Given the description of an element on the screen output the (x, y) to click on. 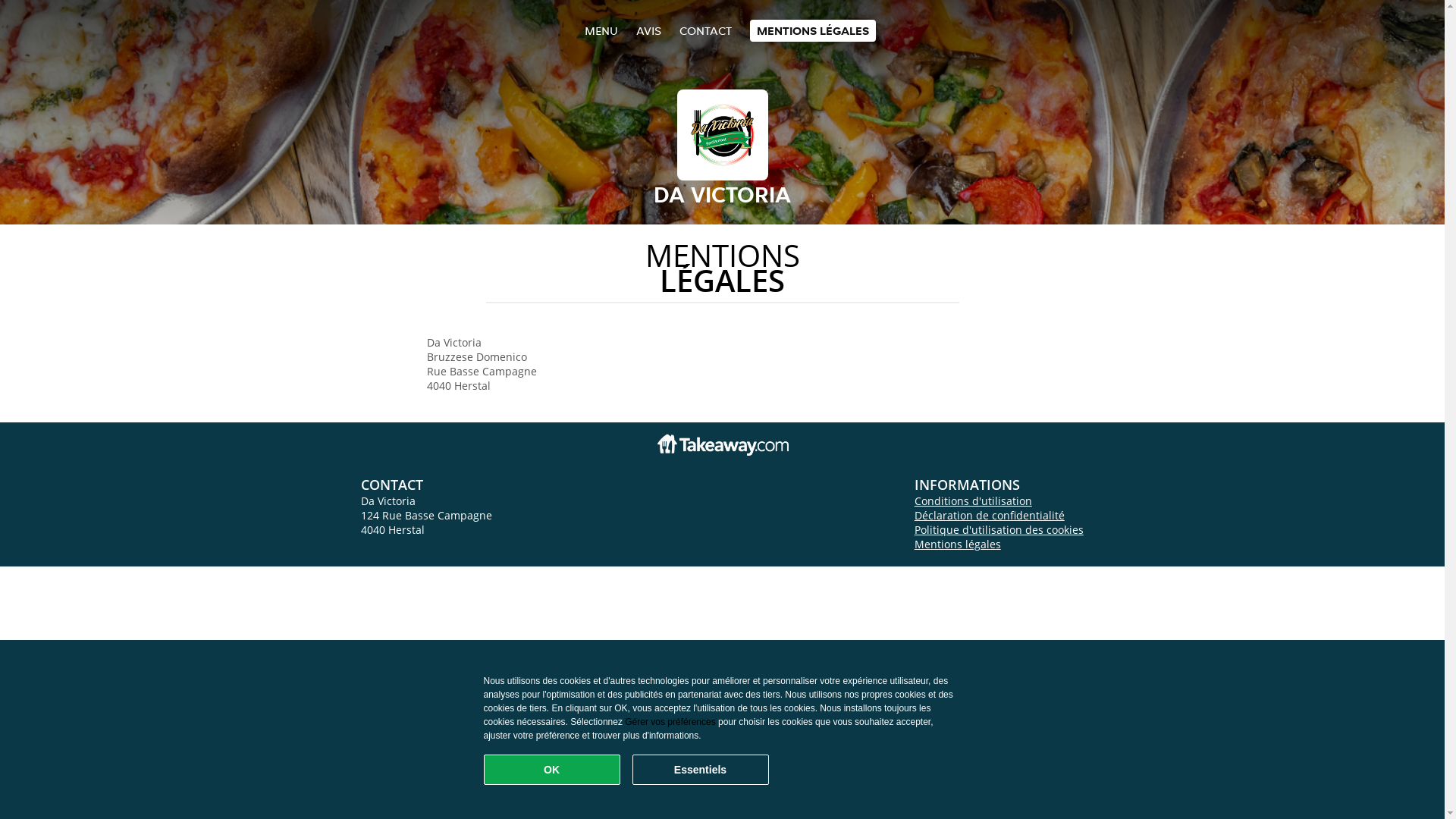
CONTACT Element type: text (705, 30)
MENU Element type: text (600, 30)
Politique d'utilisation des cookies Element type: text (998, 529)
Essentiels Element type: text (700, 769)
Conditions d'utilisation Element type: text (973, 500)
OK Element type: text (551, 769)
AVIS Element type: text (647, 30)
